Given the description of an element on the screen output the (x, y) to click on. 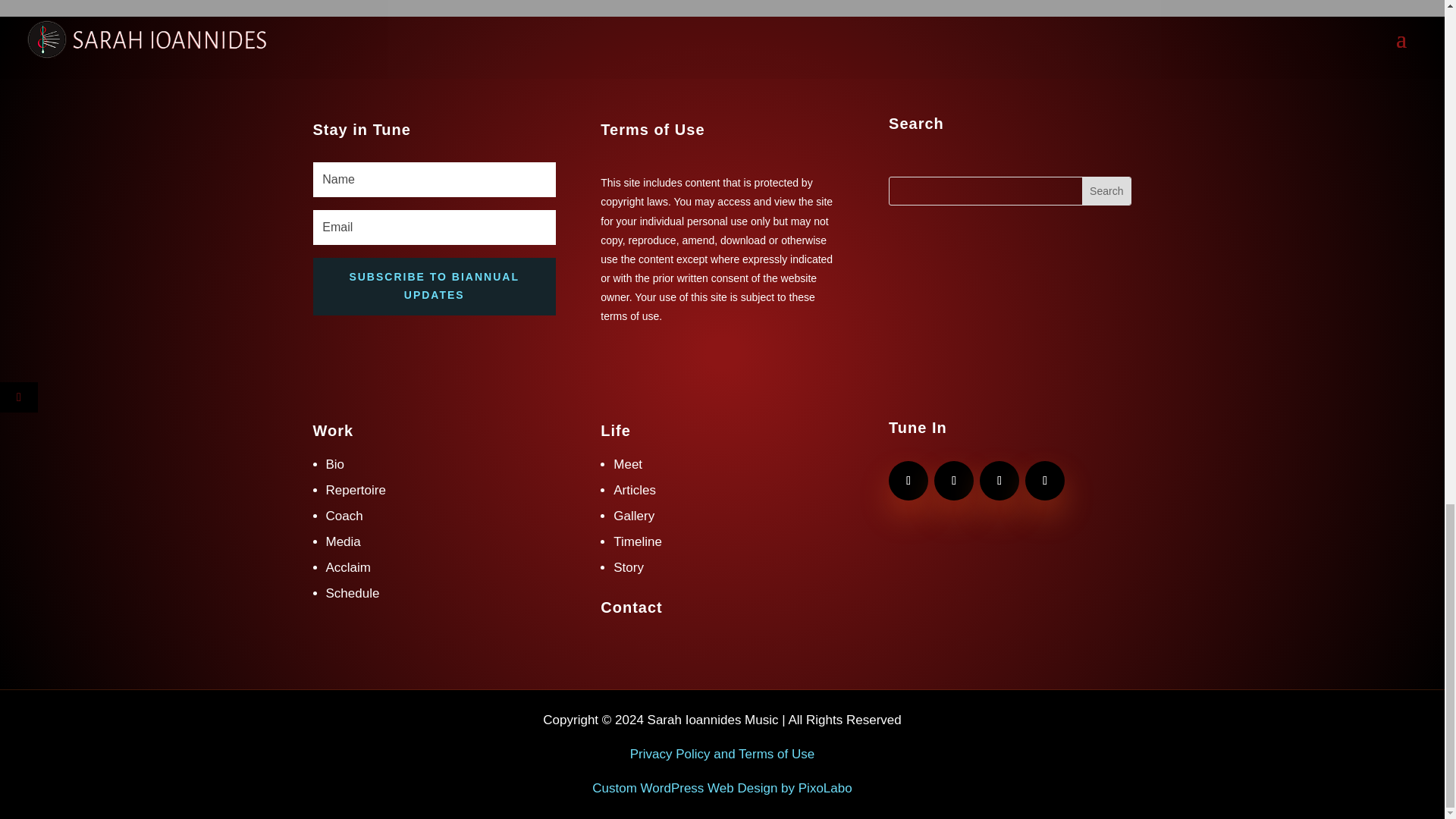
SUBSCRIBE TO BIANNUAL UPDATES (433, 286)
Custom WordPress Web Design by PixoLabo (721, 788)
Search (1106, 190)
Meet (627, 464)
Follow on Youtube (908, 480)
Bio (335, 464)
Media (343, 541)
Articles (634, 490)
Search (1106, 190)
Follow on Instagram (999, 480)
Gallery (632, 515)
Work (333, 430)
Search (1106, 190)
Timeline (637, 541)
Life (614, 430)
